Given the description of an element on the screen output the (x, y) to click on. 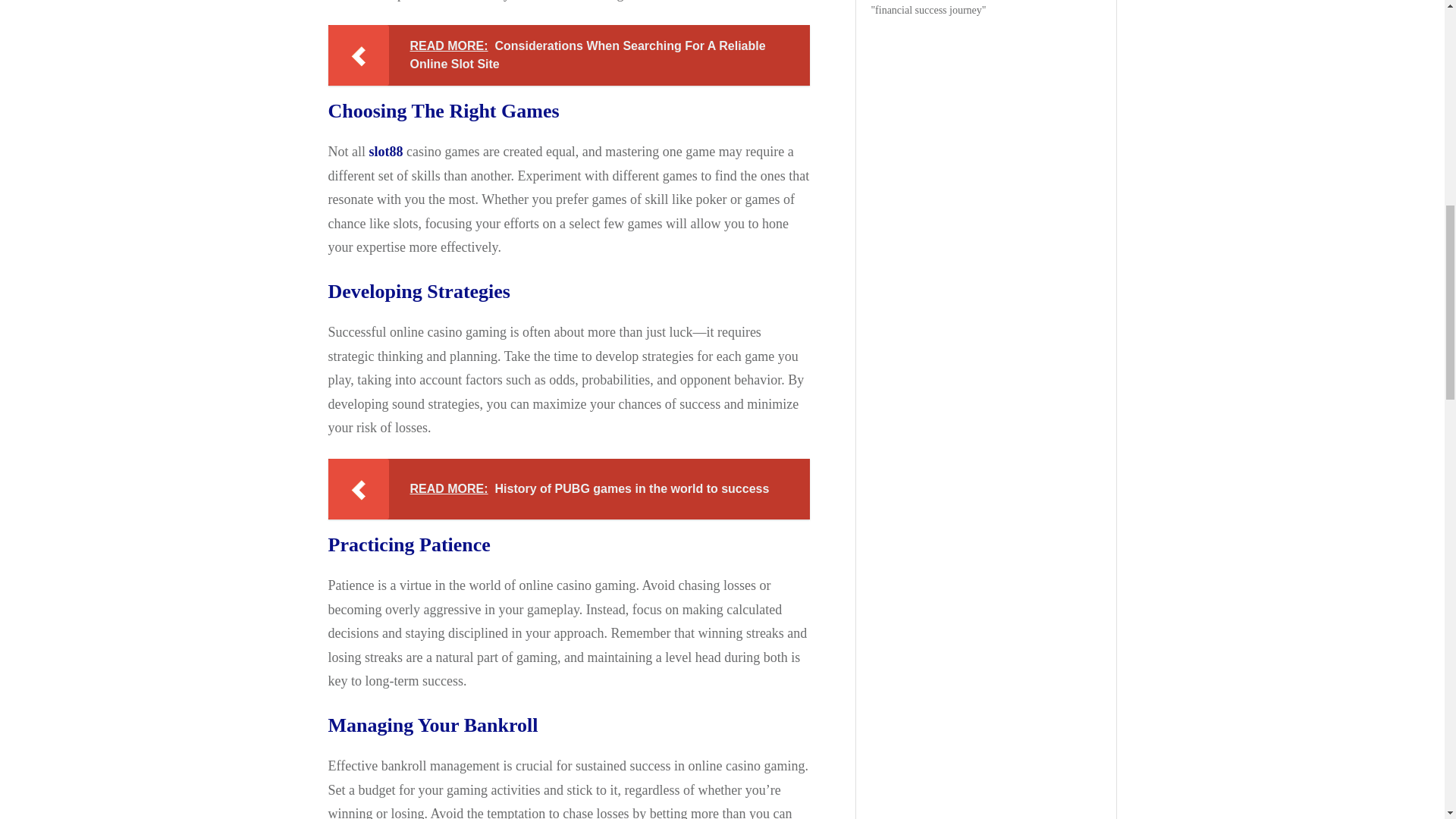
slot88 (385, 151)
